Given the description of an element on the screen output the (x, y) to click on. 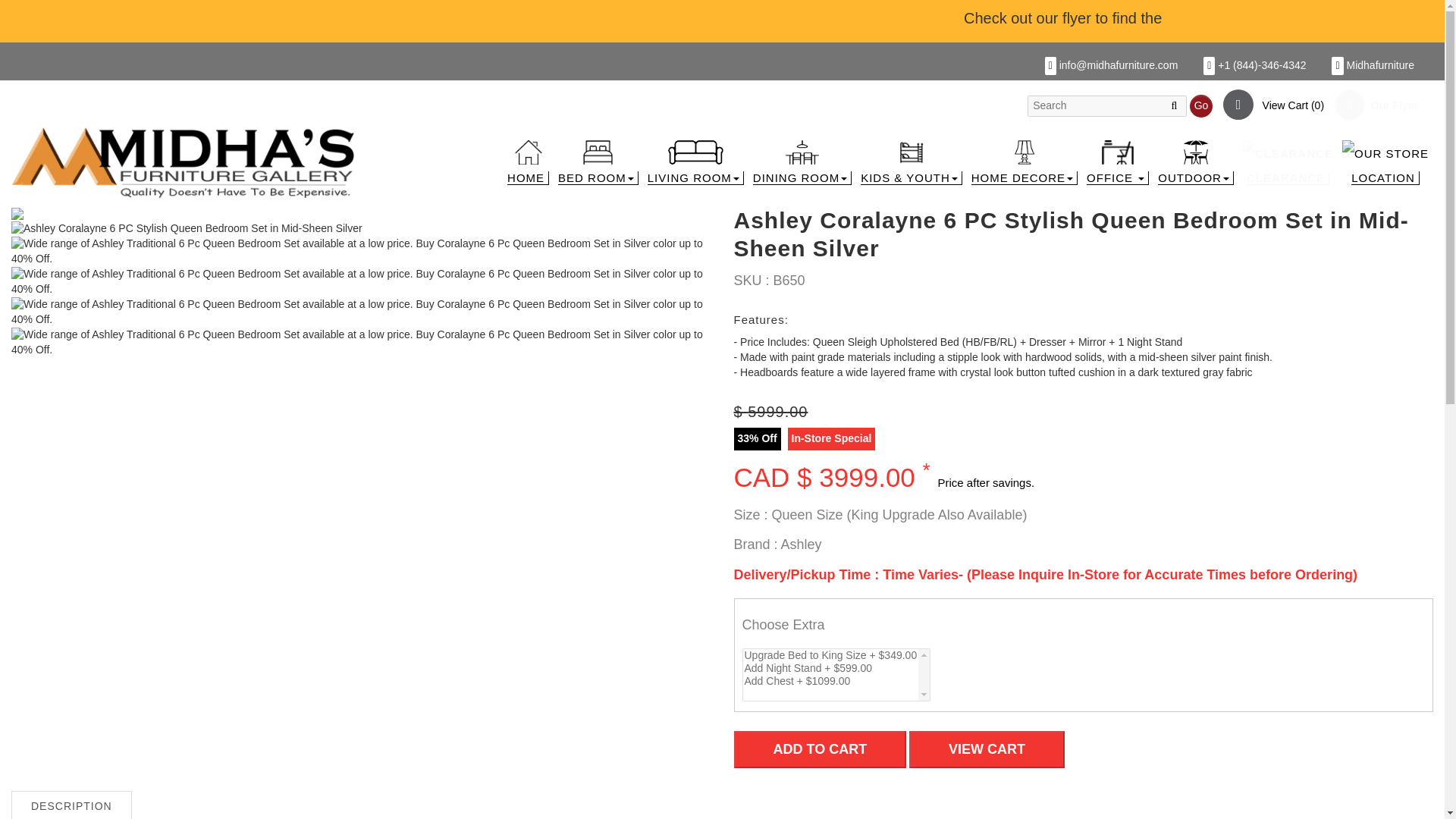
Go (1200, 106)
Midha Furniture Contact Email (1111, 64)
Living Room Furniture (695, 165)
Midhafurniture (1372, 64)
Search (1200, 105)
BED ROOM (598, 165)
Home (183, 162)
DINING ROOM (801, 165)
Midha Furniture Contact No (1255, 64)
Bed Room Furniture (598, 165)
Shopping Cart (1273, 105)
LIVING ROOM (695, 165)
Summer Sale Flyer (1376, 105)
  Our Flyer (1376, 105)
Go (1200, 105)
